Given the description of an element on the screen output the (x, y) to click on. 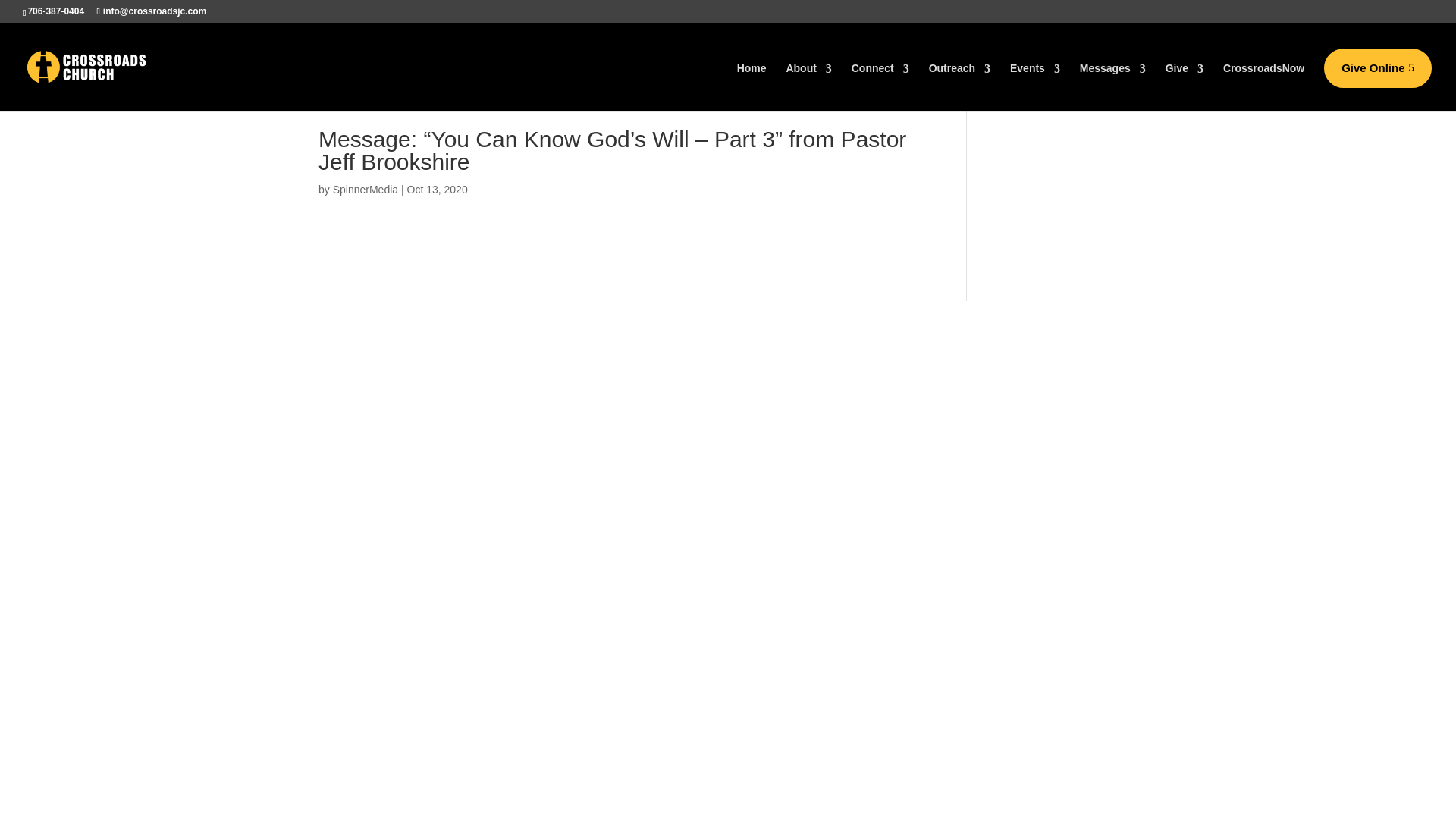
Give Online (1377, 67)
Posts by SpinnerMedia (365, 189)
Messages (1112, 85)
CrossroadsNow (1263, 85)
Events (1034, 85)
Connect (879, 85)
SpinnerMedia (365, 189)
Outreach (959, 85)
